Given the description of an element on the screen output the (x, y) to click on. 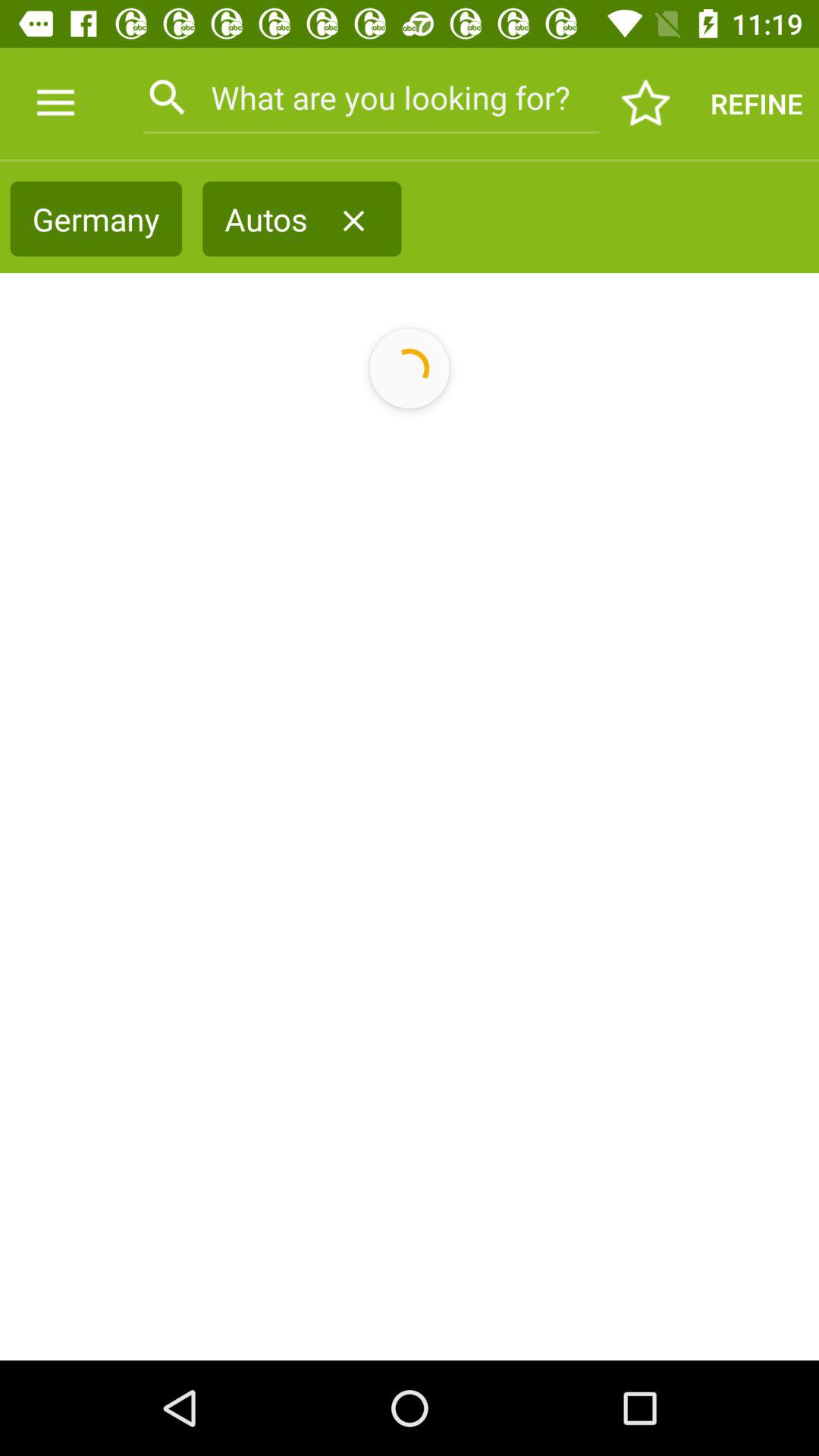
click item next to the refine (646, 103)
